Given the description of an element on the screen output the (x, y) to click on. 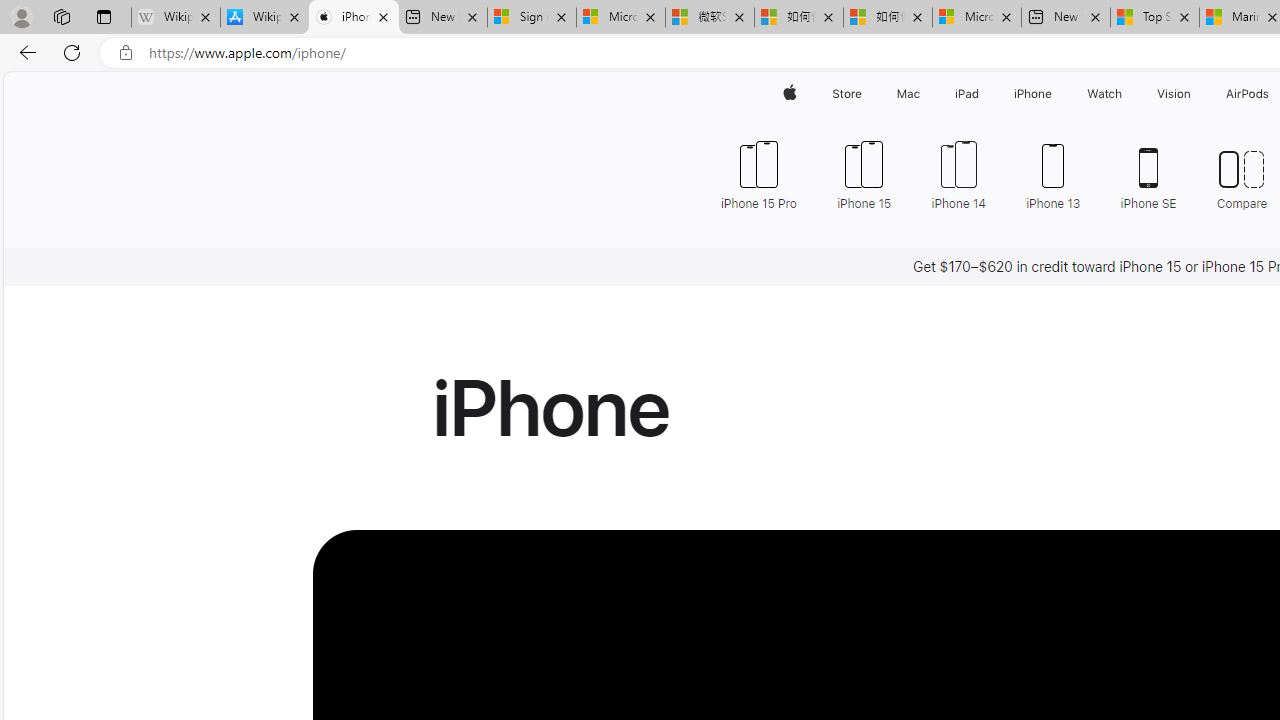
iPhone - Apple (353, 17)
Vision (1174, 93)
AirPods (1247, 93)
